Given the description of an element on the screen output the (x, y) to click on. 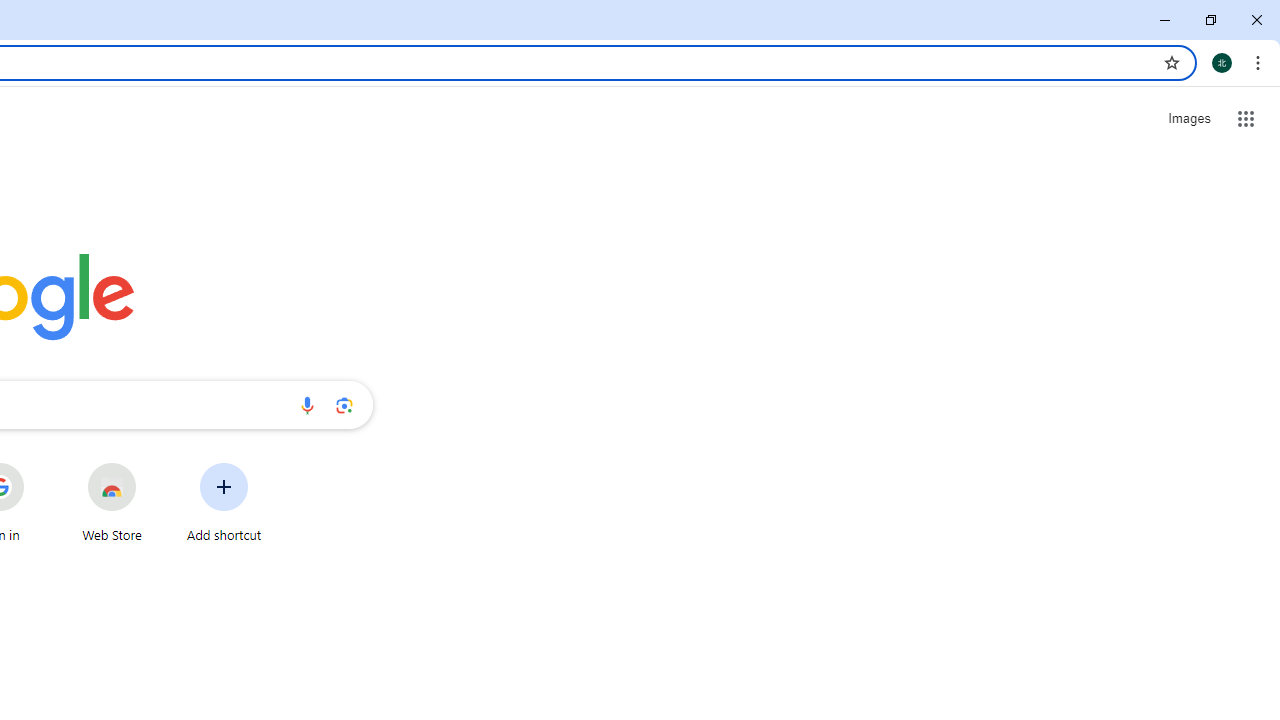
Web Store (111, 502)
More actions for Sign in shortcut (39, 464)
More actions for Web Store shortcut (152, 464)
